Given the description of an element on the screen output the (x, y) to click on. 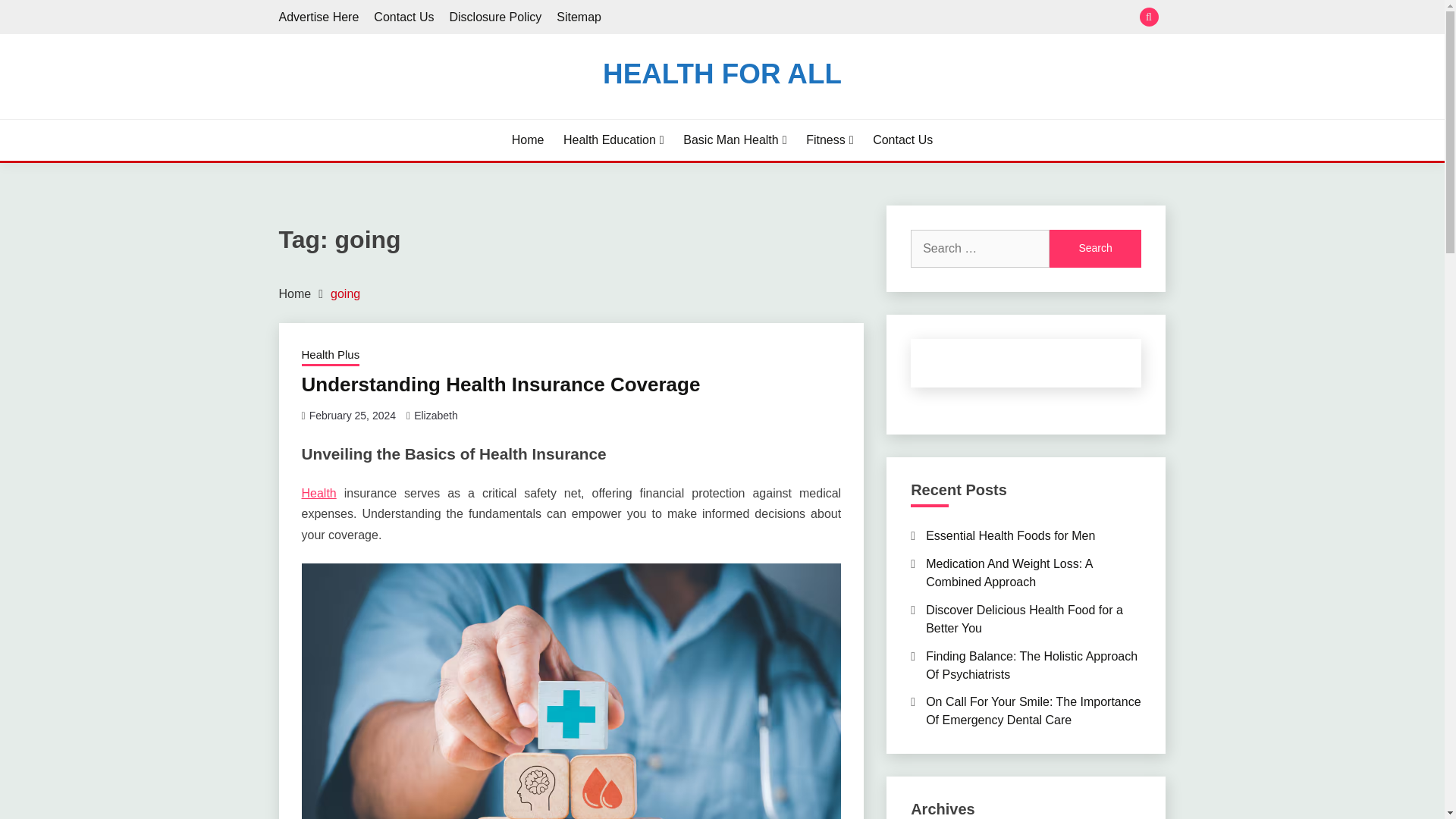
HEALTH FOR ALL (721, 73)
Medication And Weight Loss: A Combined Approach (1009, 572)
Discover Delicious Health Food for a Better You (1024, 618)
Health (318, 492)
Essential Health Foods for Men (1010, 535)
Search (832, 18)
Contact Us (403, 16)
Basic Man Health (734, 140)
Home (528, 140)
Disclosure Policy (494, 16)
Contact Us (902, 140)
Health Education (613, 140)
Fitness (829, 140)
Understanding Health Insurance Coverage (500, 384)
Health Plus (330, 356)
